Given the description of an element on the screen output the (x, y) to click on. 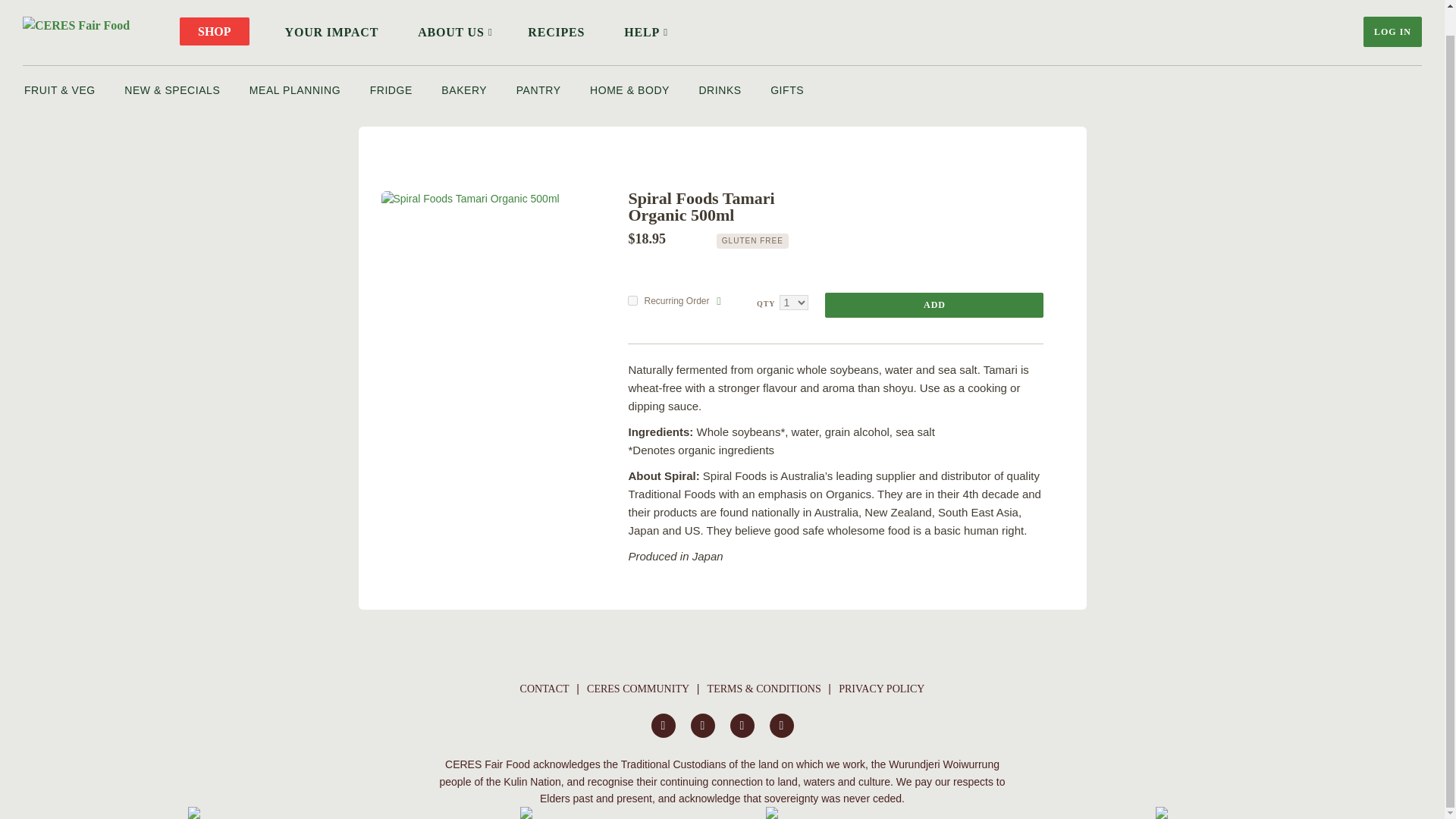
LOG IN (1392, 31)
Add (934, 304)
Follow us on Instagram (702, 725)
more info (718, 300)
RECIPES (555, 32)
YOUR IMPACT (331, 32)
Follow us on Youtube (741, 725)
Become a fan on Facebook (662, 725)
ABOUT US (453, 32)
Follow us on LinkedIn (780, 725)
